Given the description of an element on the screen output the (x, y) to click on. 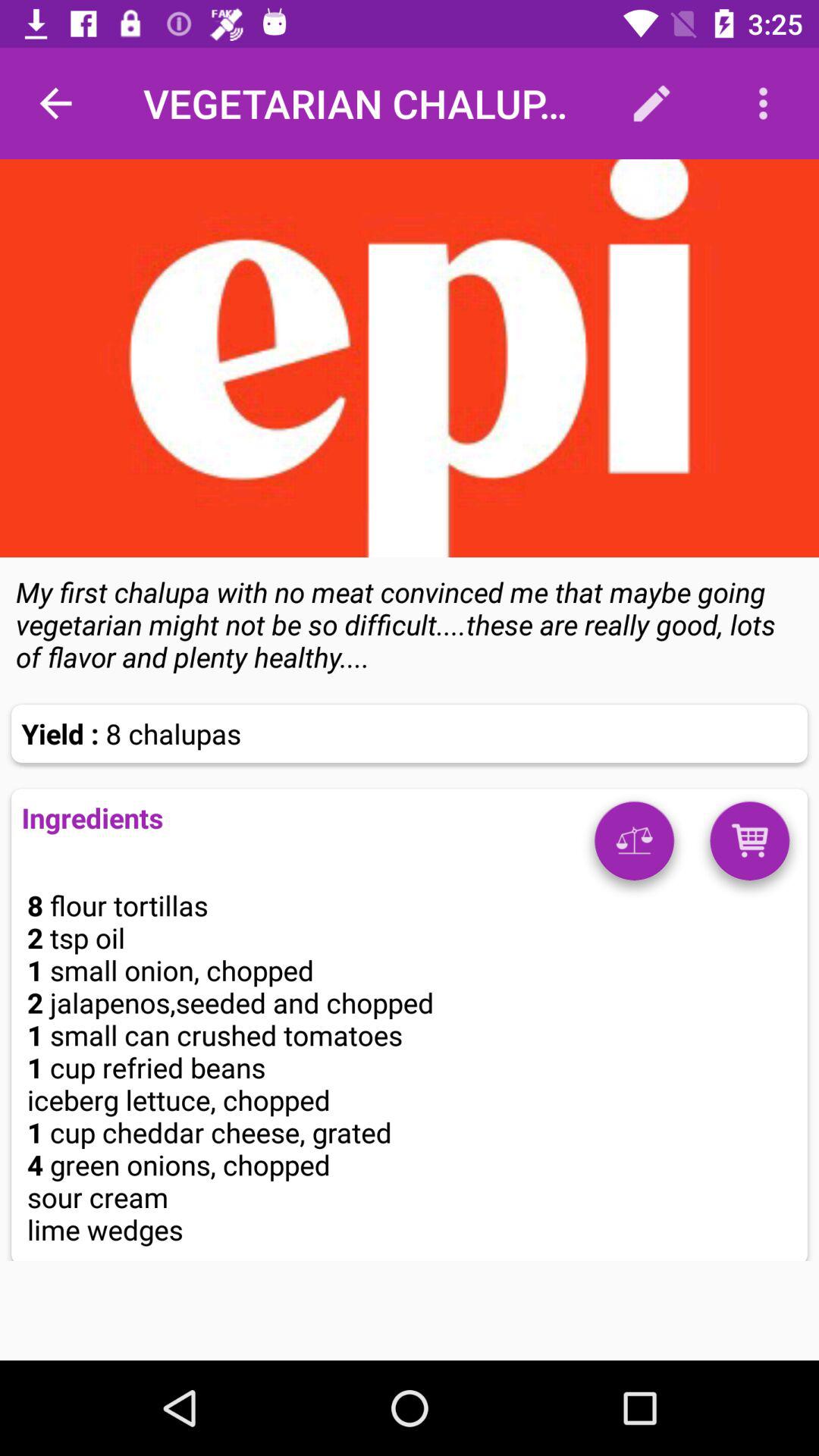
shopping cart (749, 846)
